Given the description of an element on the screen output the (x, y) to click on. 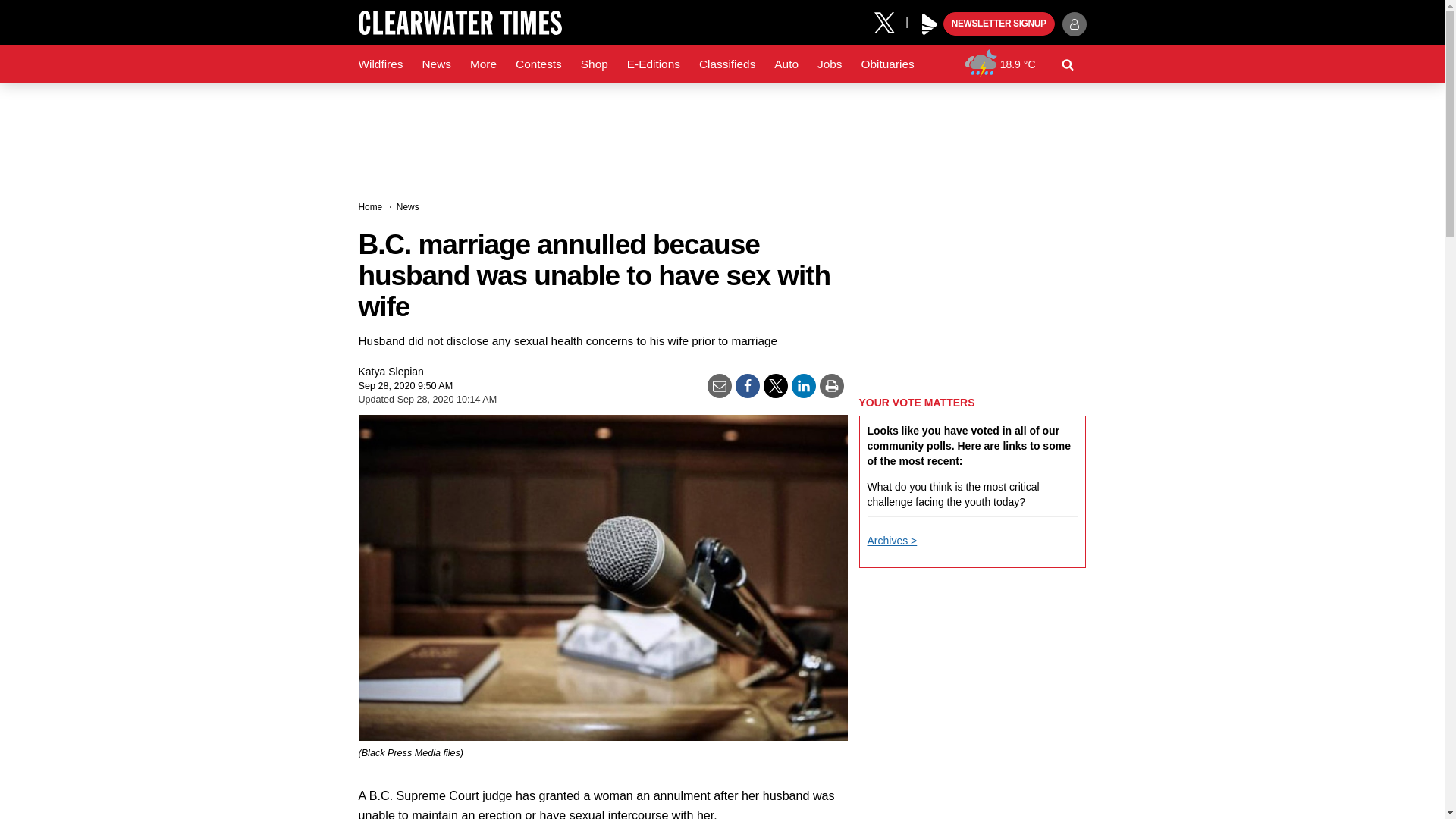
NEWSLETTER SIGNUP (998, 24)
Wildfires (380, 64)
X (889, 21)
Play (929, 24)
News (435, 64)
Black Press Media (929, 24)
